Given the description of an element on the screen output the (x, y) to click on. 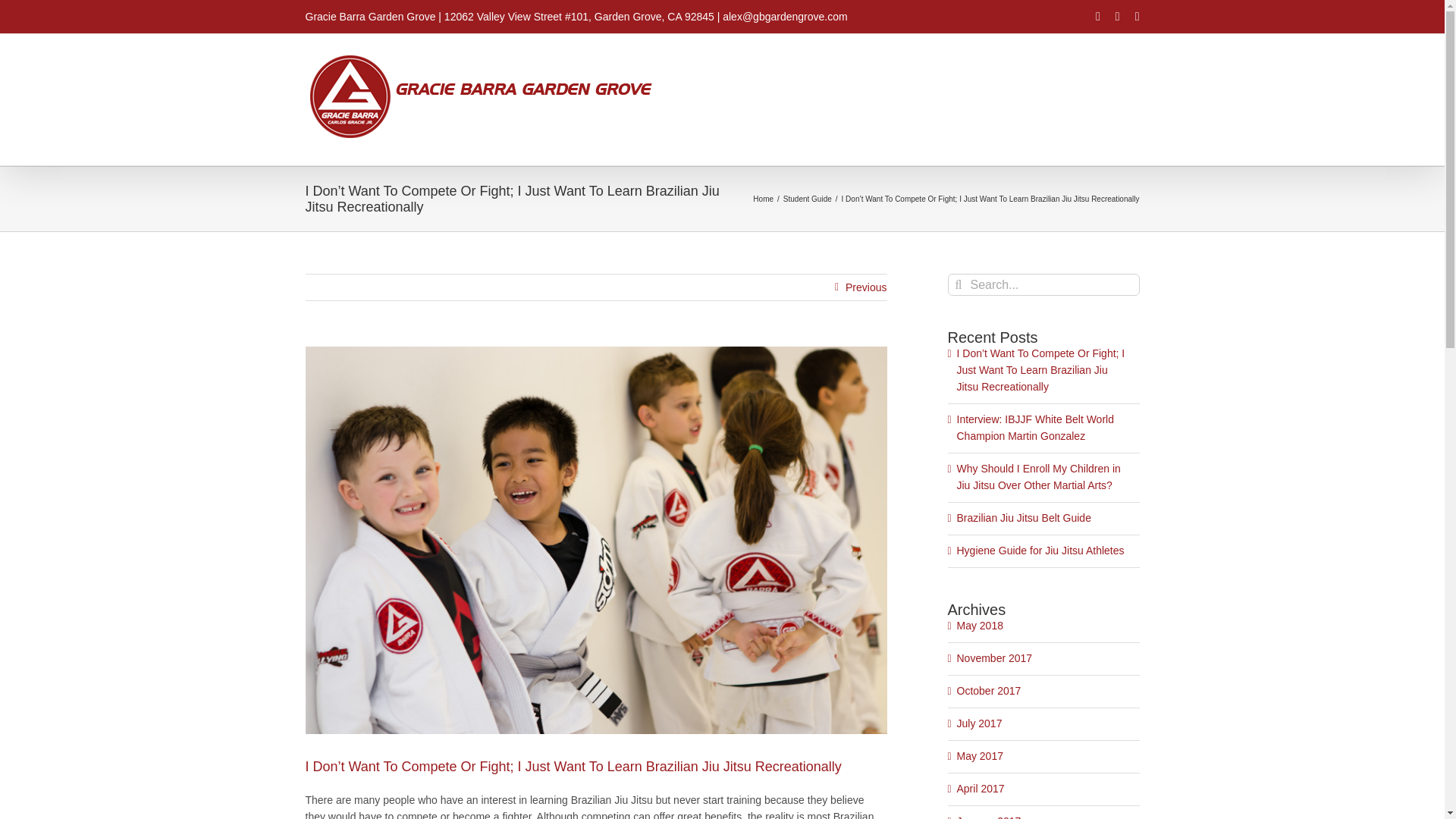
Previous (865, 287)
Home (762, 198)
Student Guide (807, 198)
